Given the description of an element on the screen output the (x, y) to click on. 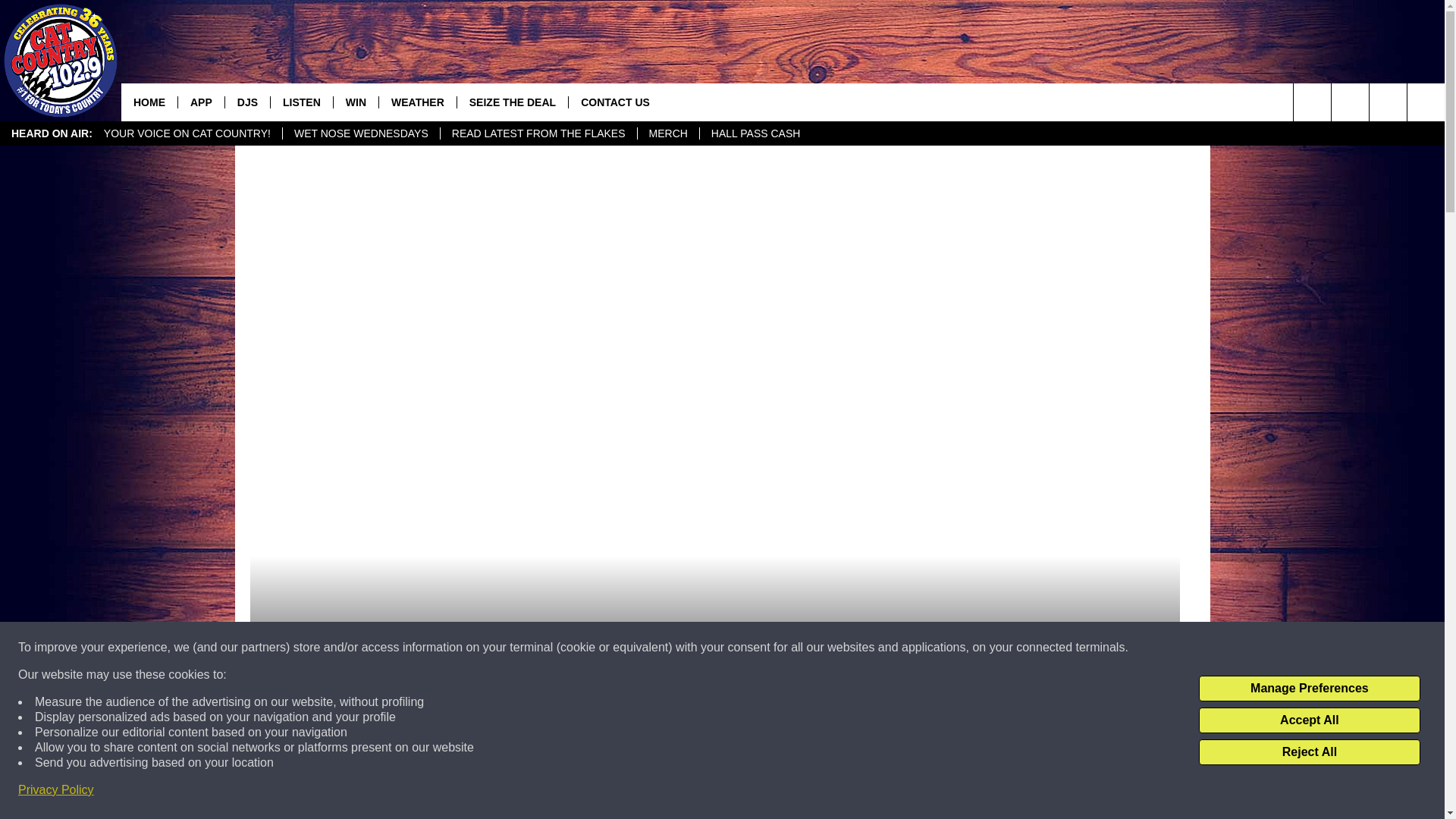
APP (200, 102)
WIN (355, 102)
DJS (246, 102)
Share on Facebook (517, 791)
Privacy Policy (55, 789)
READ LATEST FROM THE FLAKES (538, 133)
Reject All (1309, 751)
YOUR VOICE ON CAT COUNTRY! (187, 133)
HOME (148, 102)
Accept All (1309, 720)
Share on Twitter (912, 791)
MERCH (667, 133)
LISTEN (301, 102)
HALL PASS CASH (755, 133)
WET NOSE WEDNESDAYS (360, 133)
